Given the description of an element on the screen output the (x, y) to click on. 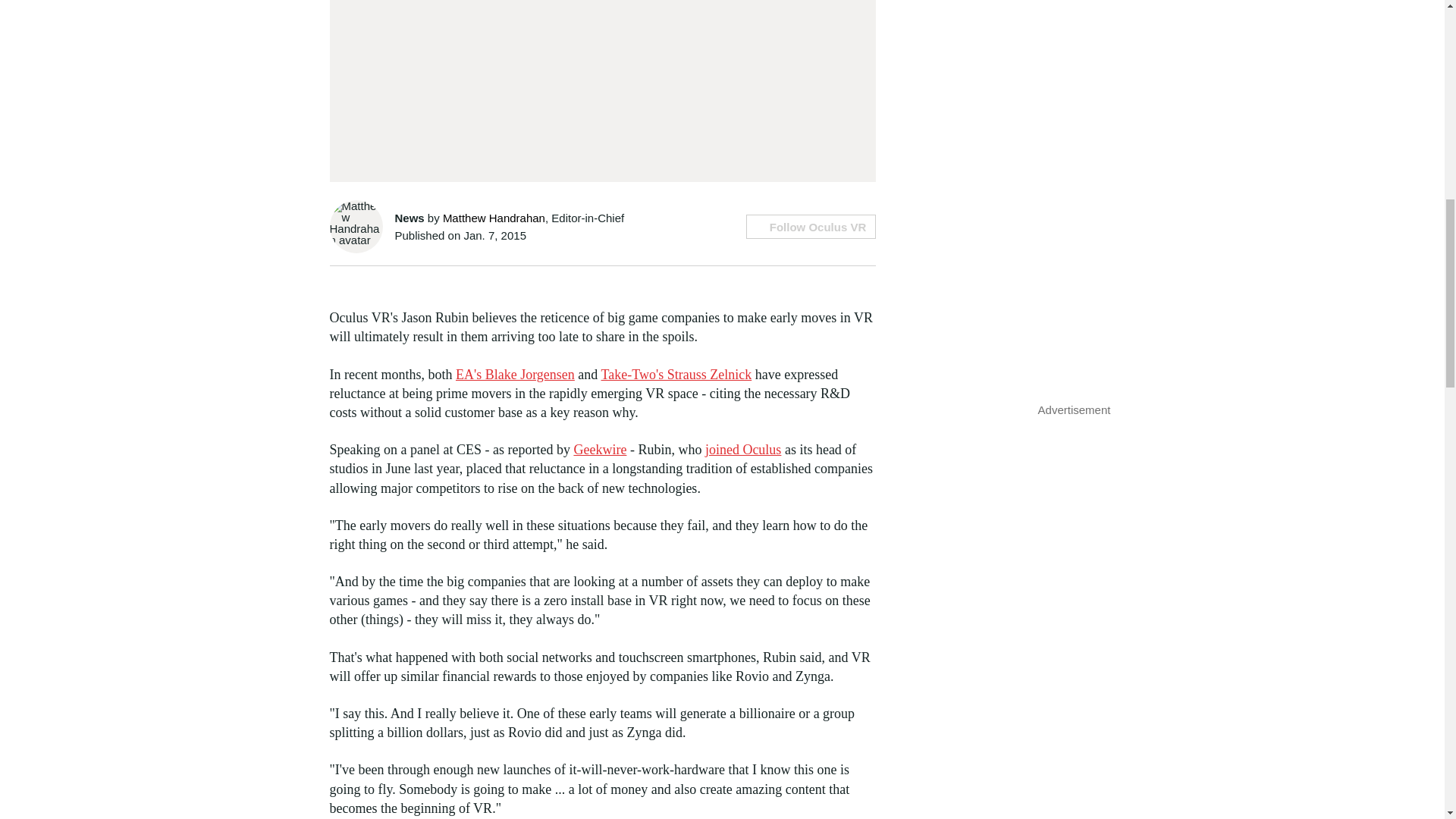
Take-Two's Strauss Zelnick (676, 374)
EA's Blake Jorgensen (515, 374)
Follow Oculus VR (810, 226)
Matthew Handrahan (493, 217)
Geekwire (599, 449)
joined Oculus (742, 449)
Follow Oculus VR (810, 226)
